Given the description of an element on the screen output the (x, y) to click on. 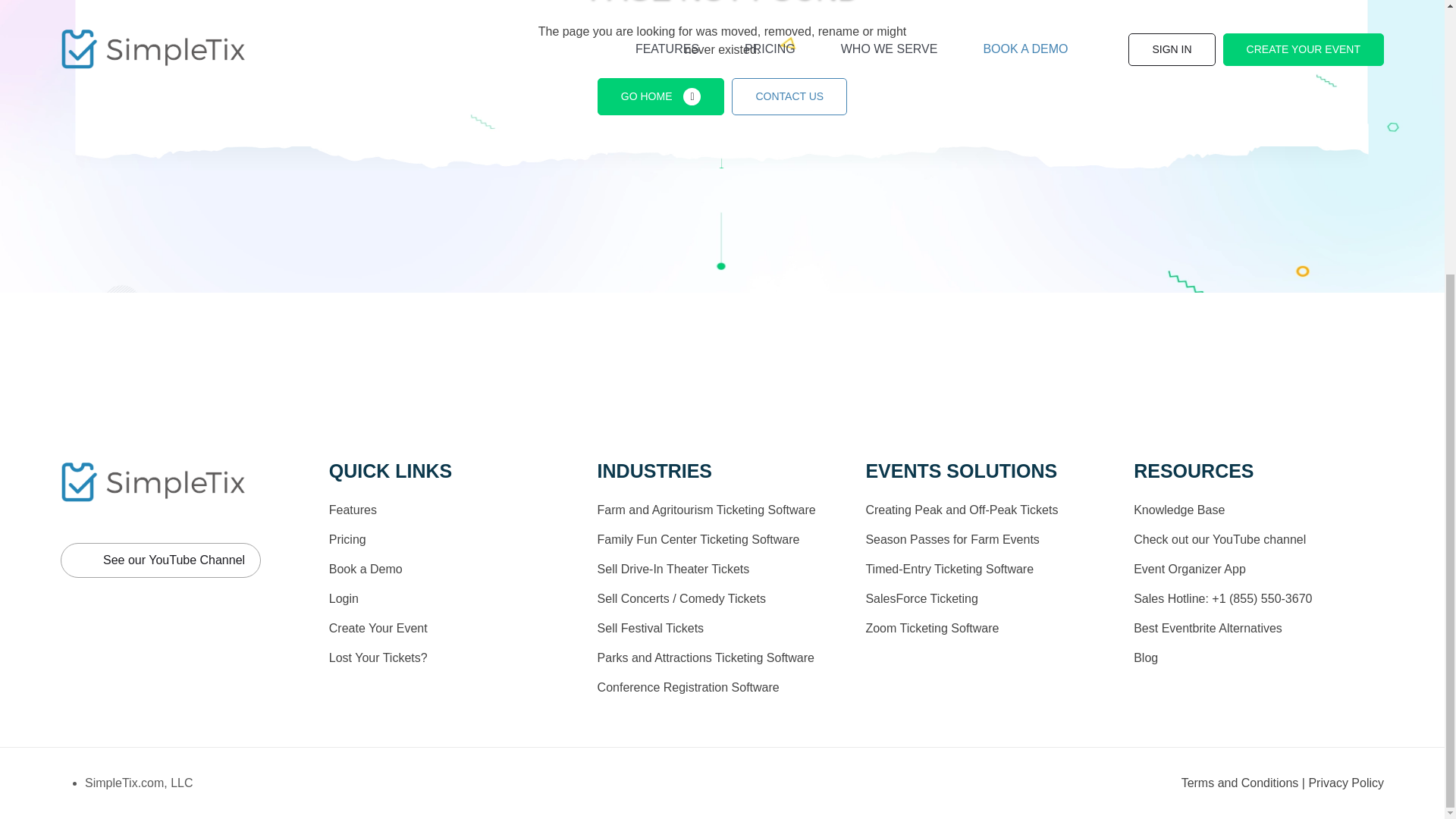
Parks and Attractions Ticketing Software (704, 657)
CONTACT US (789, 96)
Timed-Entry Ticketing Software (948, 568)
GO HOME (660, 96)
Best Eventbrite Alternatives (1208, 627)
Event Organizer App (1190, 568)
Sell Drive-In Theater Tickets (672, 568)
Features (353, 509)
Privacy Policy (1345, 782)
Create Your Event (378, 627)
